Given the description of an element on the screen output the (x, y) to click on. 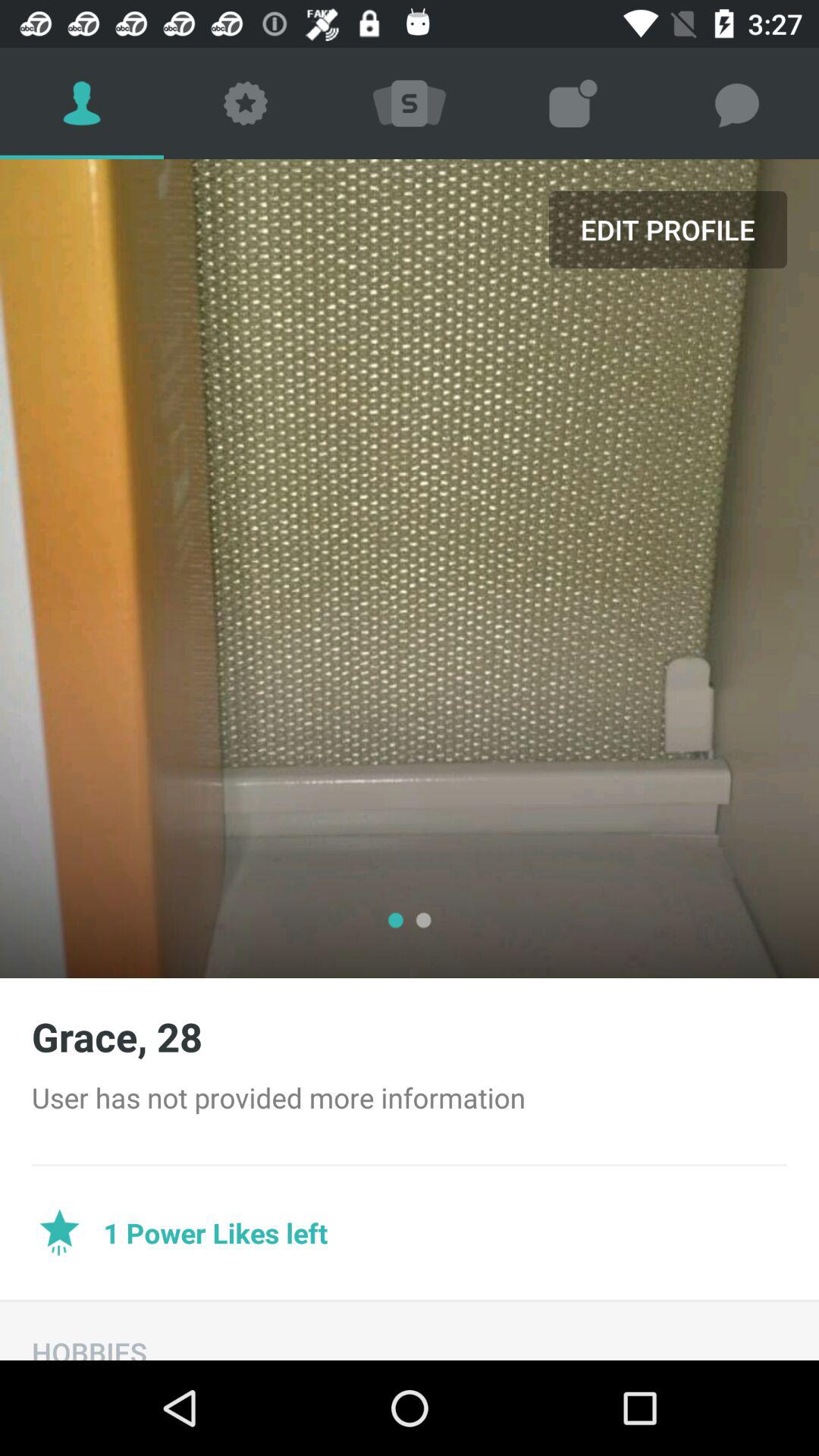
flip to the edit profile icon (667, 229)
